Given the description of an element on the screen output the (x, y) to click on. 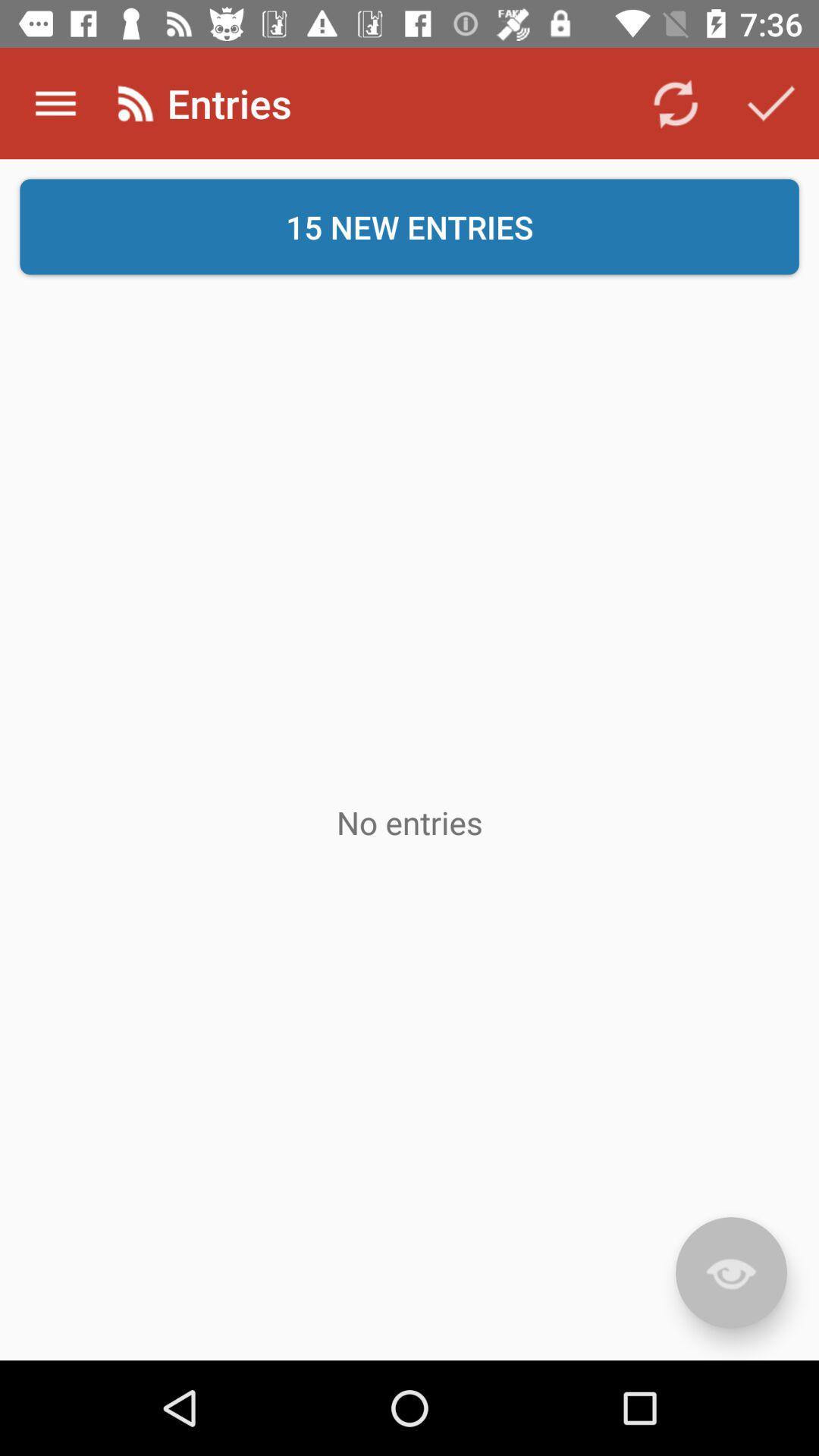
select app to the right of entries icon (675, 103)
